Given the description of an element on the screen output the (x, y) to click on. 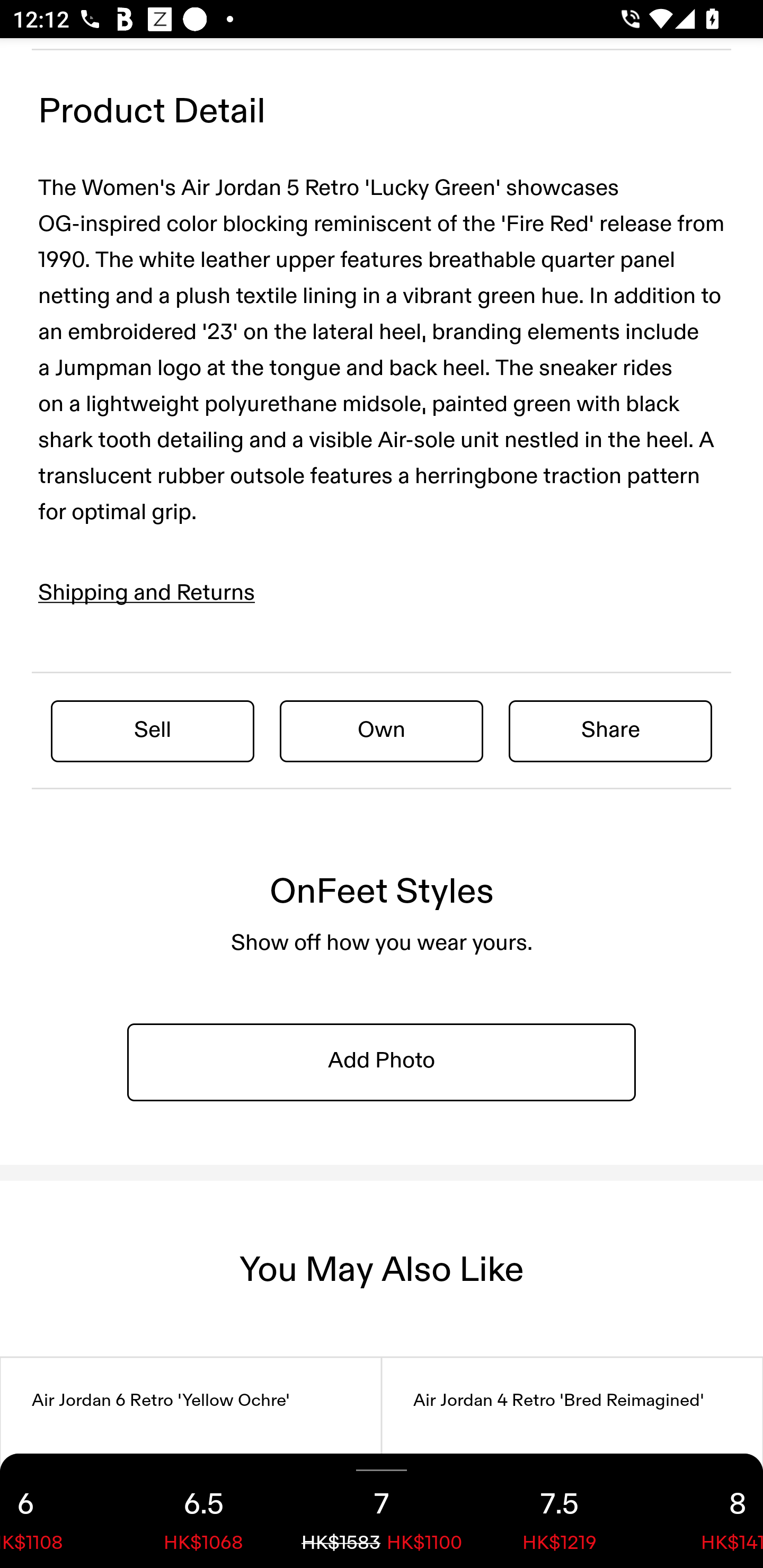
Shipping and Returns (146, 593)
Sell (152, 730)
Own (381, 730)
Share (609, 730)
Add Photo (381, 1061)
Air Jordan 6 Retro 'Yellow Ochre' (190, 1462)
Air Jordan 4 Retro 'Bred Reimagined' (572, 1462)
6 HK$1108 (57, 1510)
6.5 HK$1068 (203, 1510)
7 HK$1583 HK$1100 (381, 1510)
7.5 HK$1219 (559, 1510)
8 HK$1417 (705, 1510)
